Given the description of an element on the screen output the (x, y) to click on. 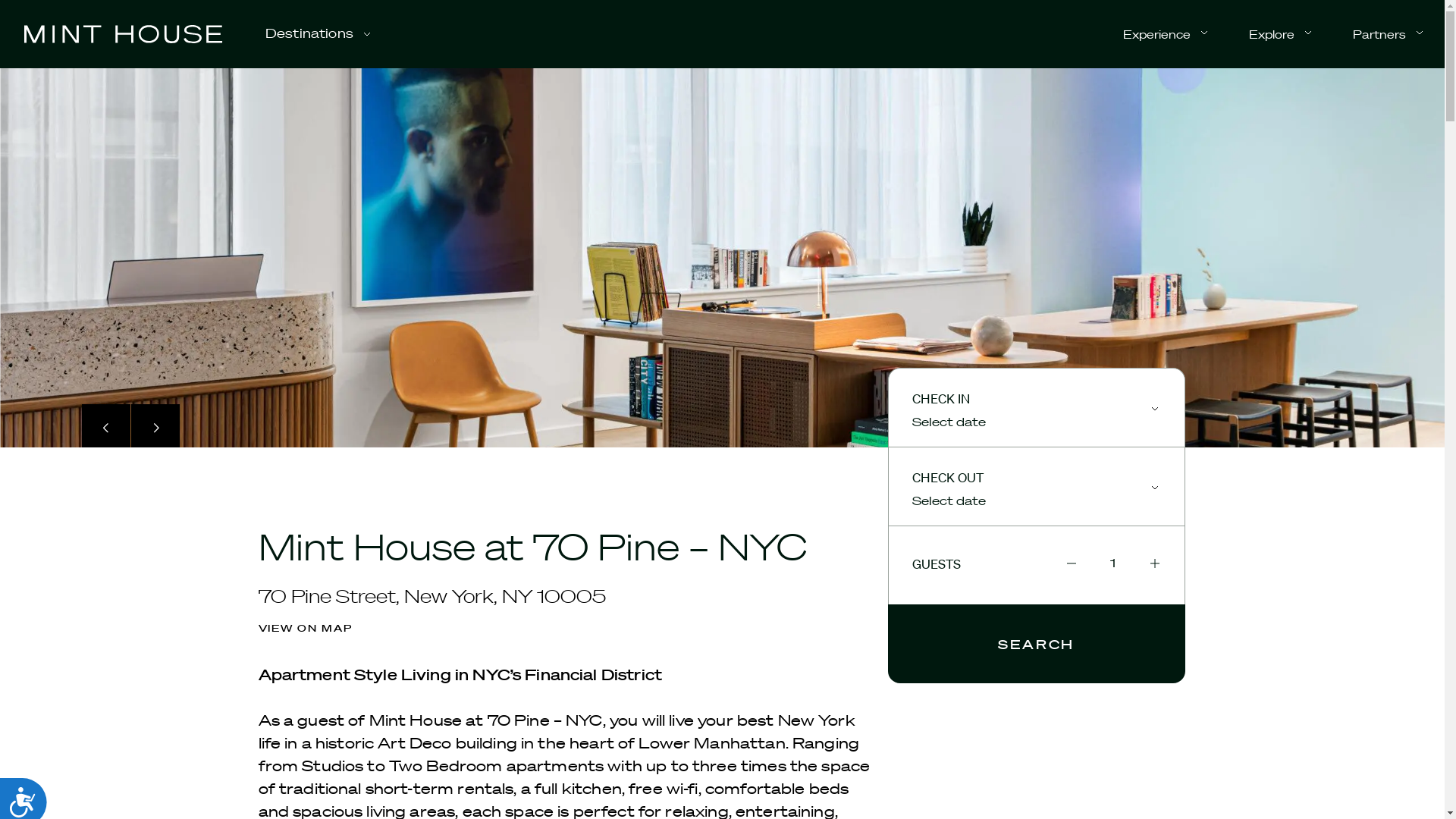
Explore (1280, 33)
Accessibility (29, 798)
SEARCH (1035, 643)
Experience (1165, 33)
MintHouse logo (123, 34)
